Given the description of an element on the screen output the (x, y) to click on. 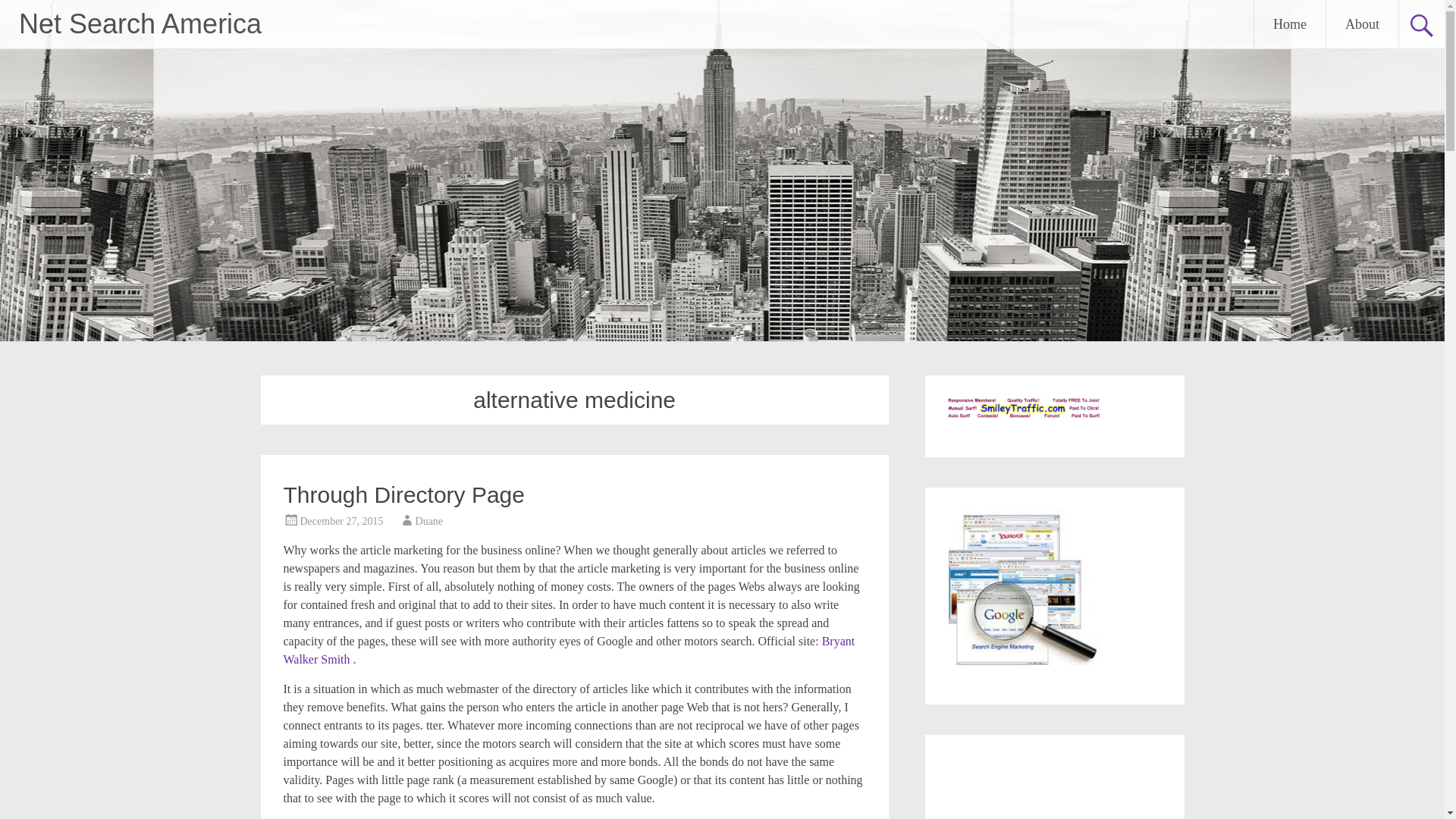
Net Search America (140, 23)
Net Search America (140, 23)
Duane (429, 521)
Bryant Walker Smith (569, 649)
December 27, 2015 (341, 521)
Through Directory Page (404, 494)
About (1361, 24)
Home (1288, 24)
